Given the description of an element on the screen output the (x, y) to click on. 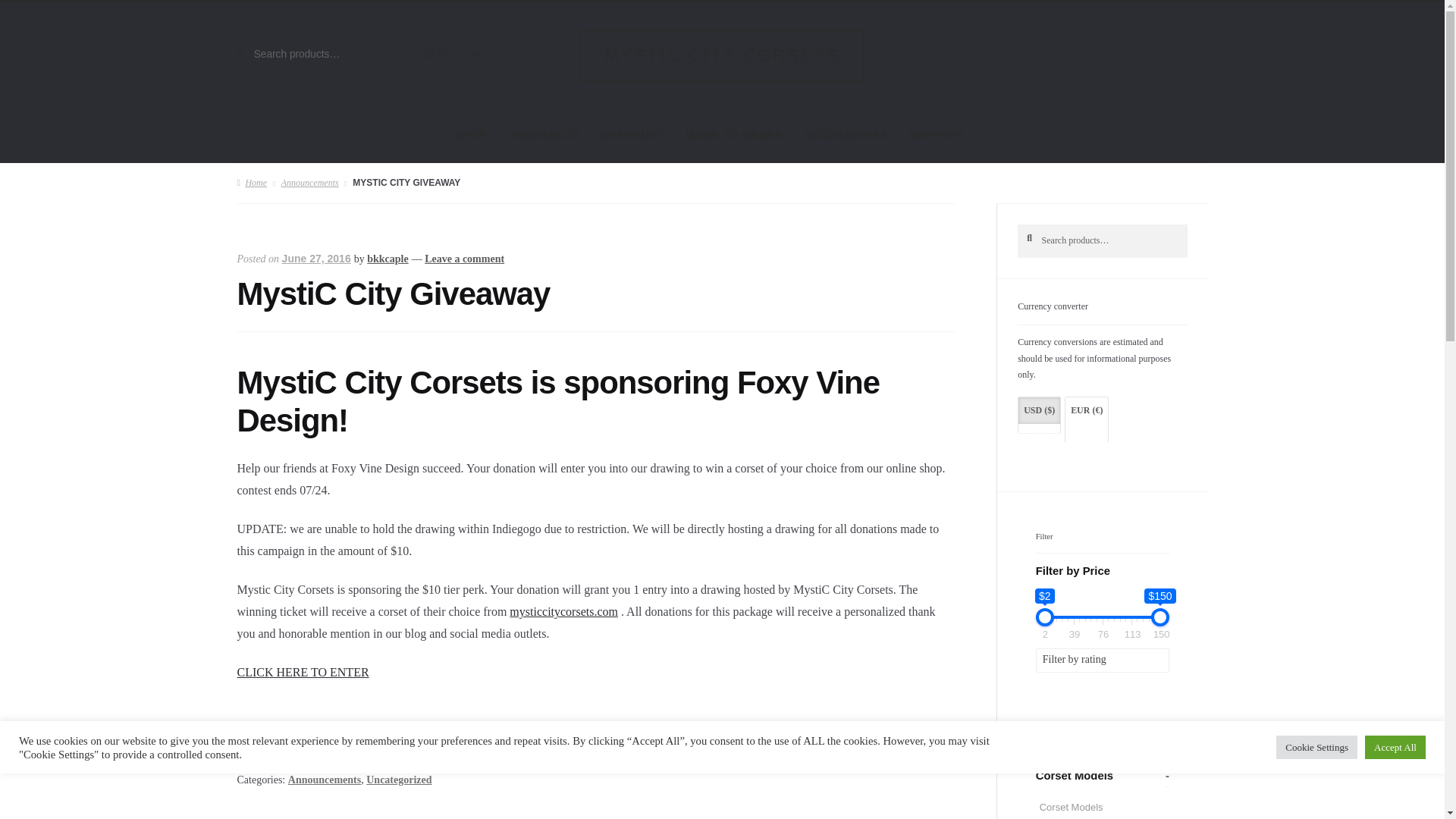
OVERBUST (633, 135)
Announcements (310, 182)
Corset Models (1080, 806)
MADE TO ORDER (734, 135)
ACCESSORIES (845, 135)
MYSTIC CITY CORSETS (721, 55)
View your shopping cart (469, 54)
Home (250, 182)
Original price:0 (435, 53)
SHOP (470, 135)
Corset Models (1080, 806)
UNDERBUST (543, 135)
SUPPORT (944, 135)
